Given the description of an element on the screen output the (x, y) to click on. 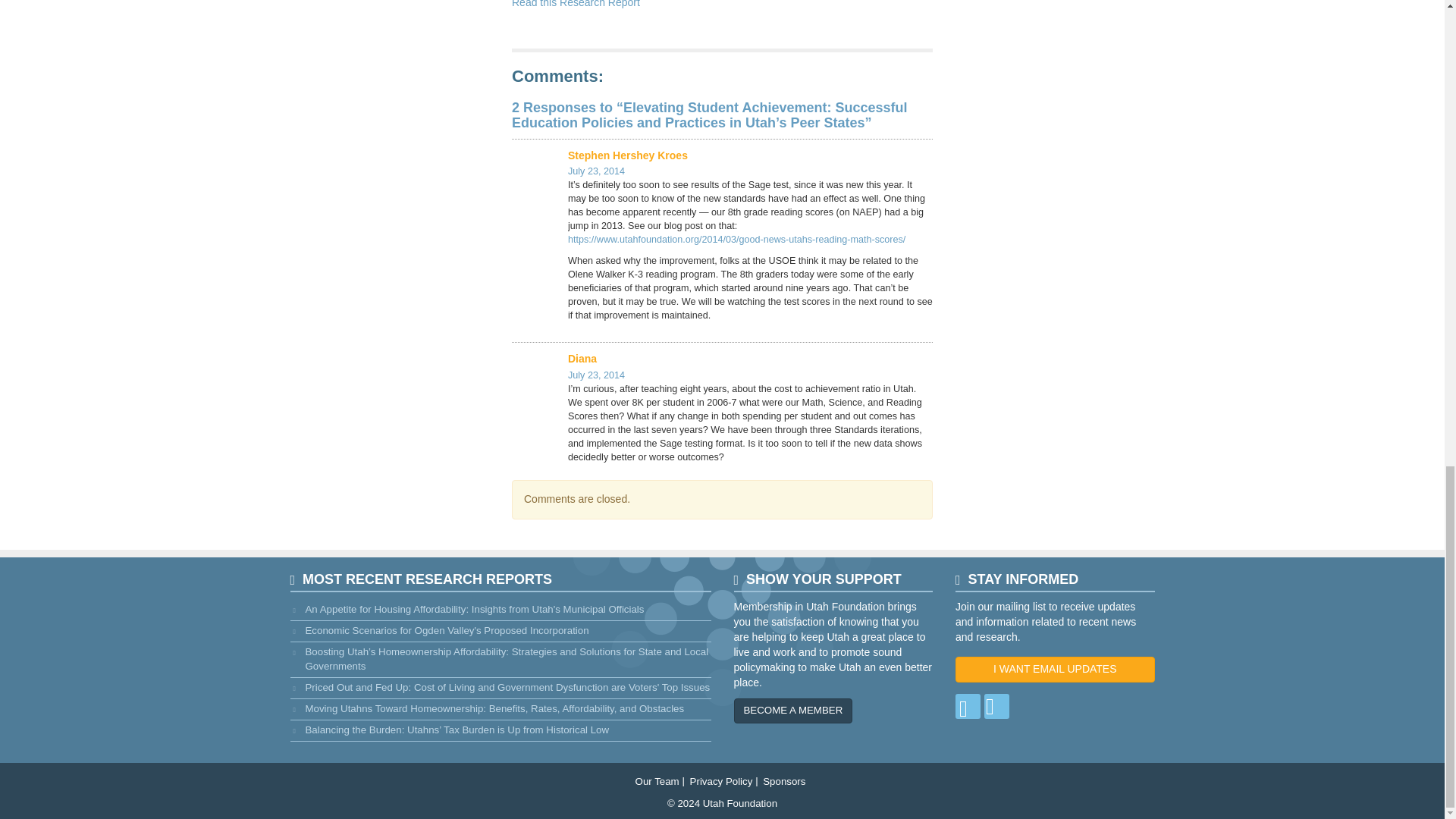
Read this Research Report (576, 4)
July 23, 2014 (595, 171)
July 23, 2014 (595, 375)
Economic Scenarios for Ogden Valley's Proposed Incorporation (499, 631)
